Given the description of an element on the screen output the (x, y) to click on. 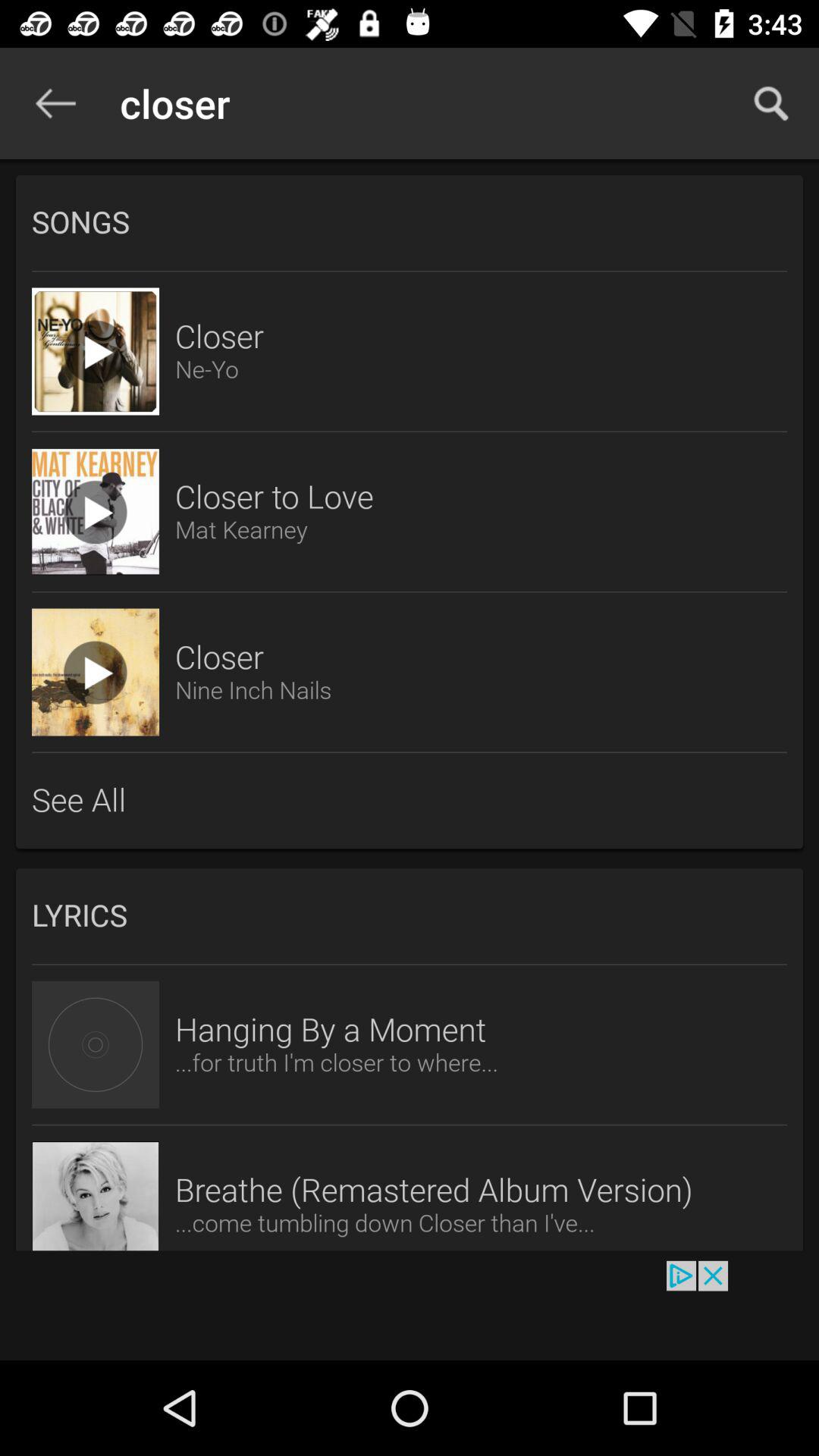
view video (95, 511)
